Given the description of an element on the screen output the (x, y) to click on. 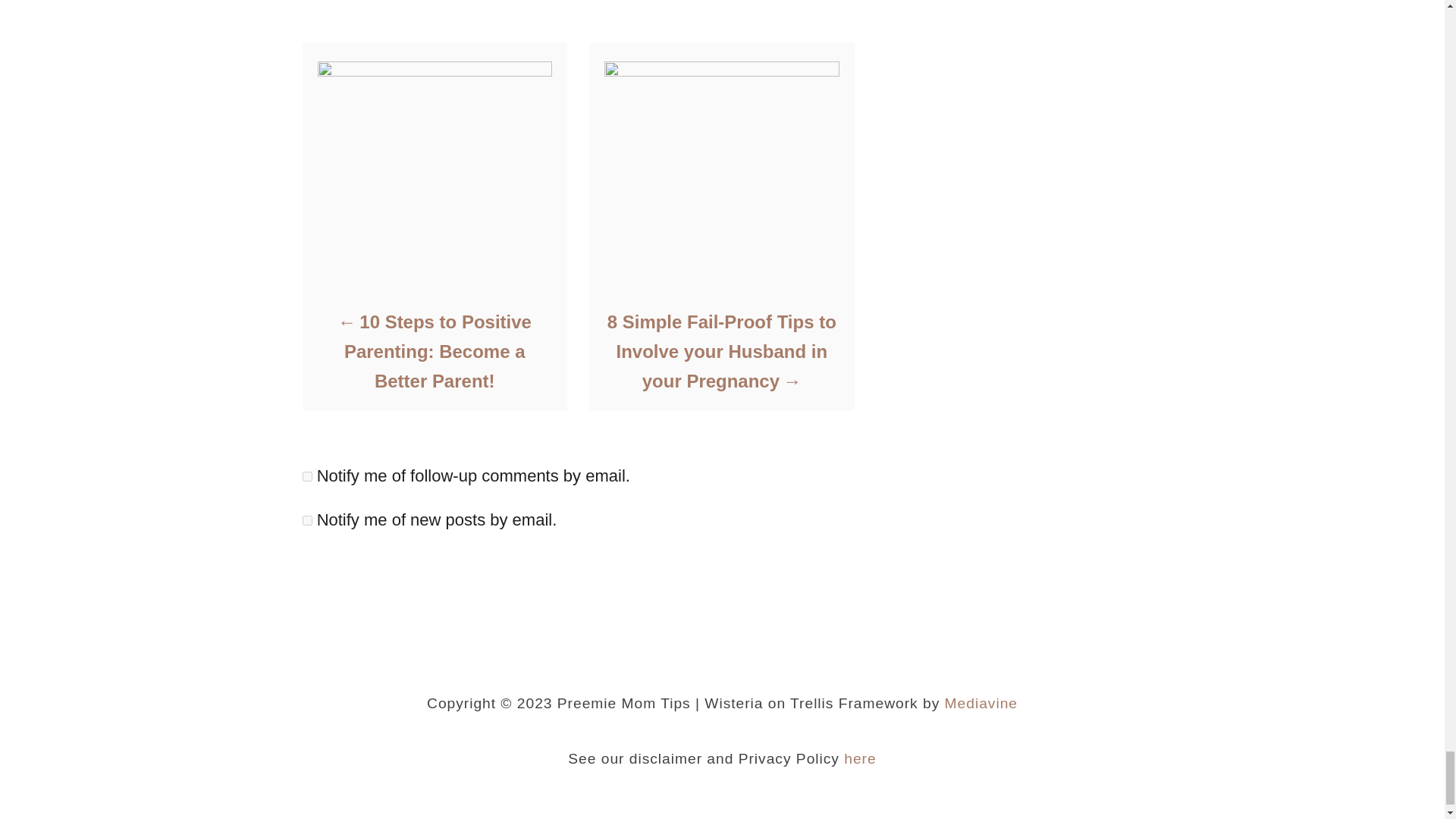
here (860, 758)
subscribe (306, 520)
Mediavine (980, 703)
10 Steps to Positive Parenting: Become a Better Parent! (434, 351)
subscribe (306, 476)
